Given the description of an element on the screen output the (x, y) to click on. 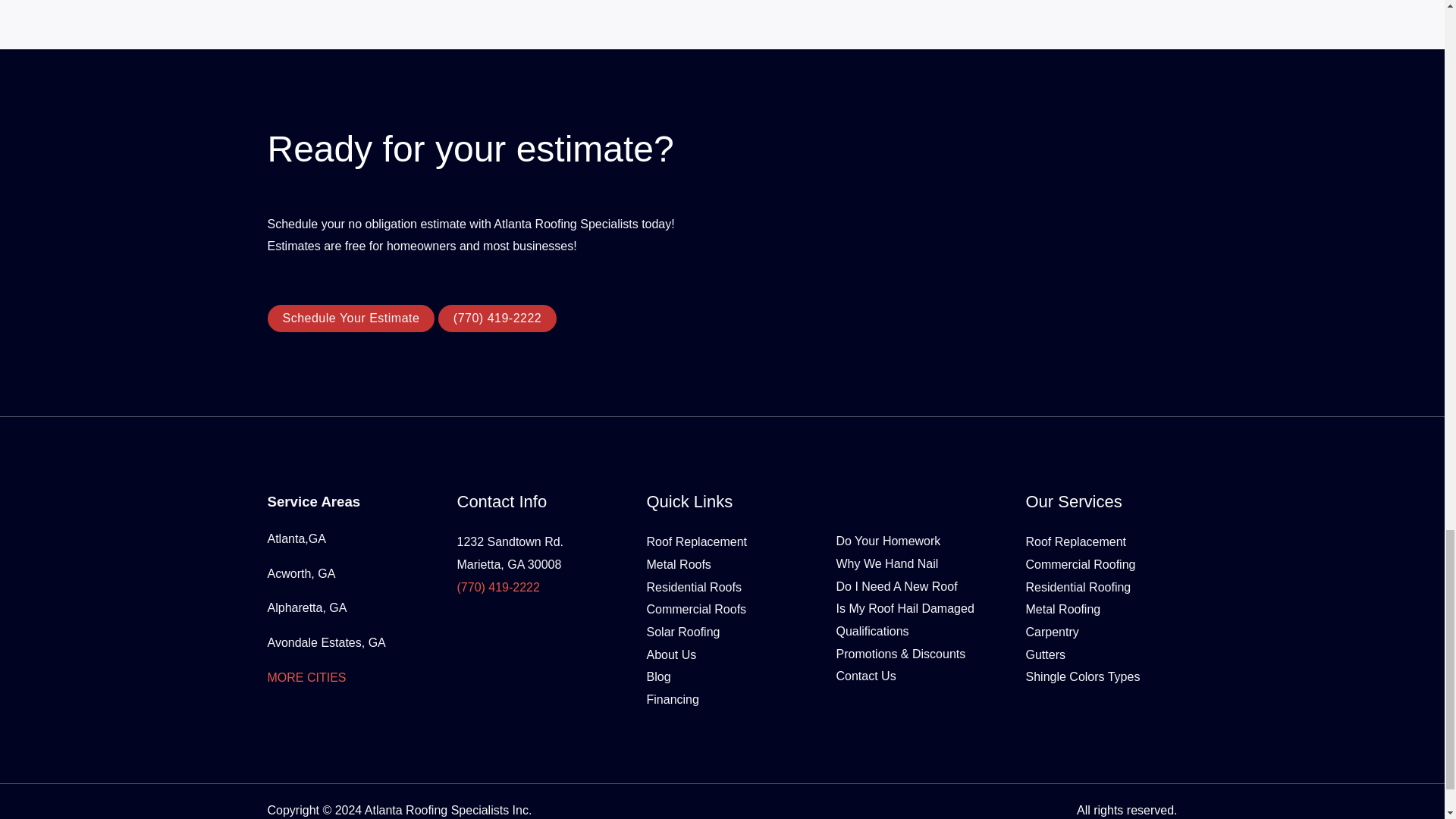
Schedule Your Estimate (349, 318)
Schedule Your Estimate (350, 318)
